Given the description of an element on the screen output the (x, y) to click on. 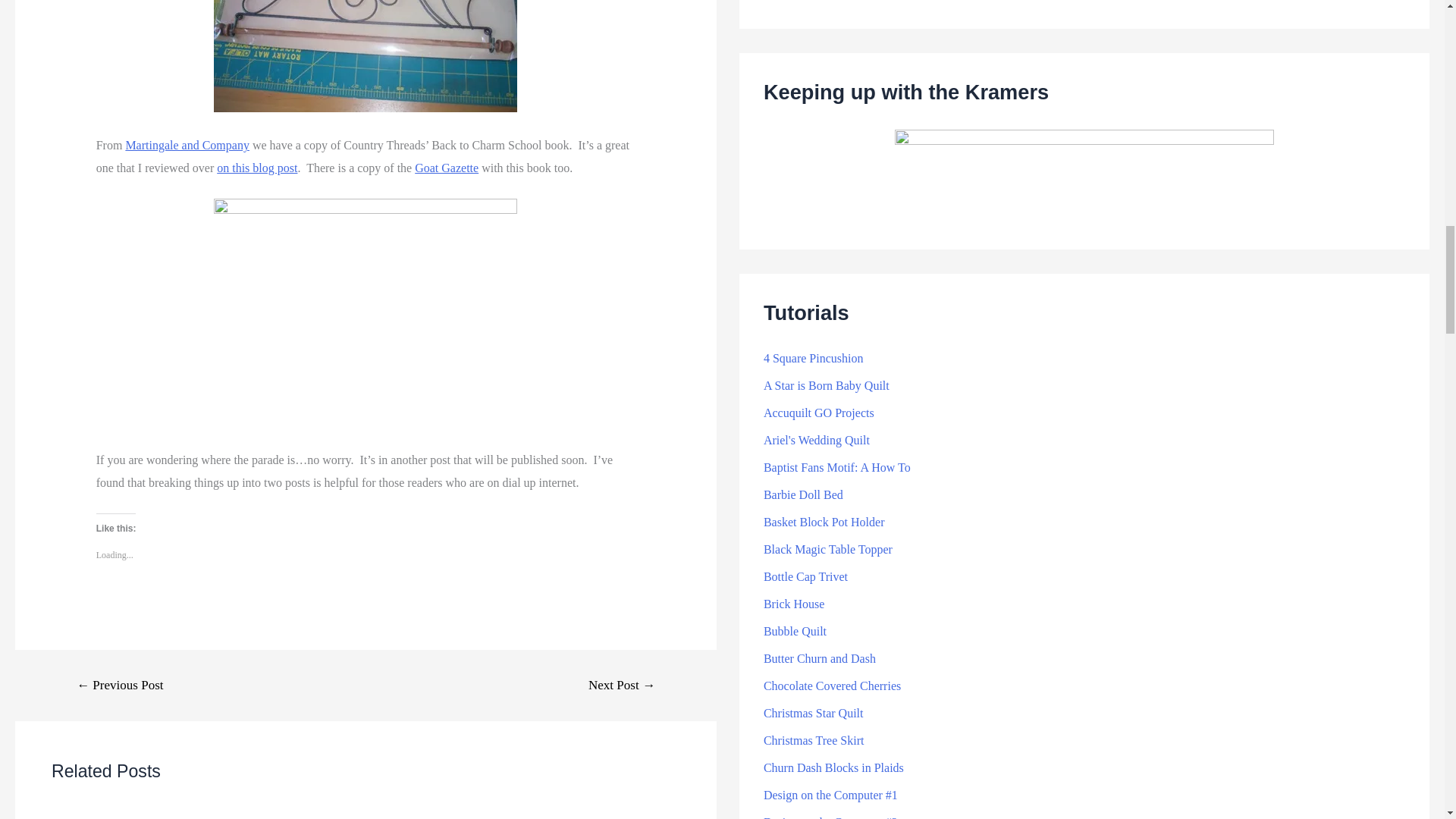
QSQA-Ackfeld (365, 56)
QSQA-Martingale (365, 312)
Bottle Cap Trivet Tutorial (804, 576)
